Given the description of an element on the screen output the (x, y) to click on. 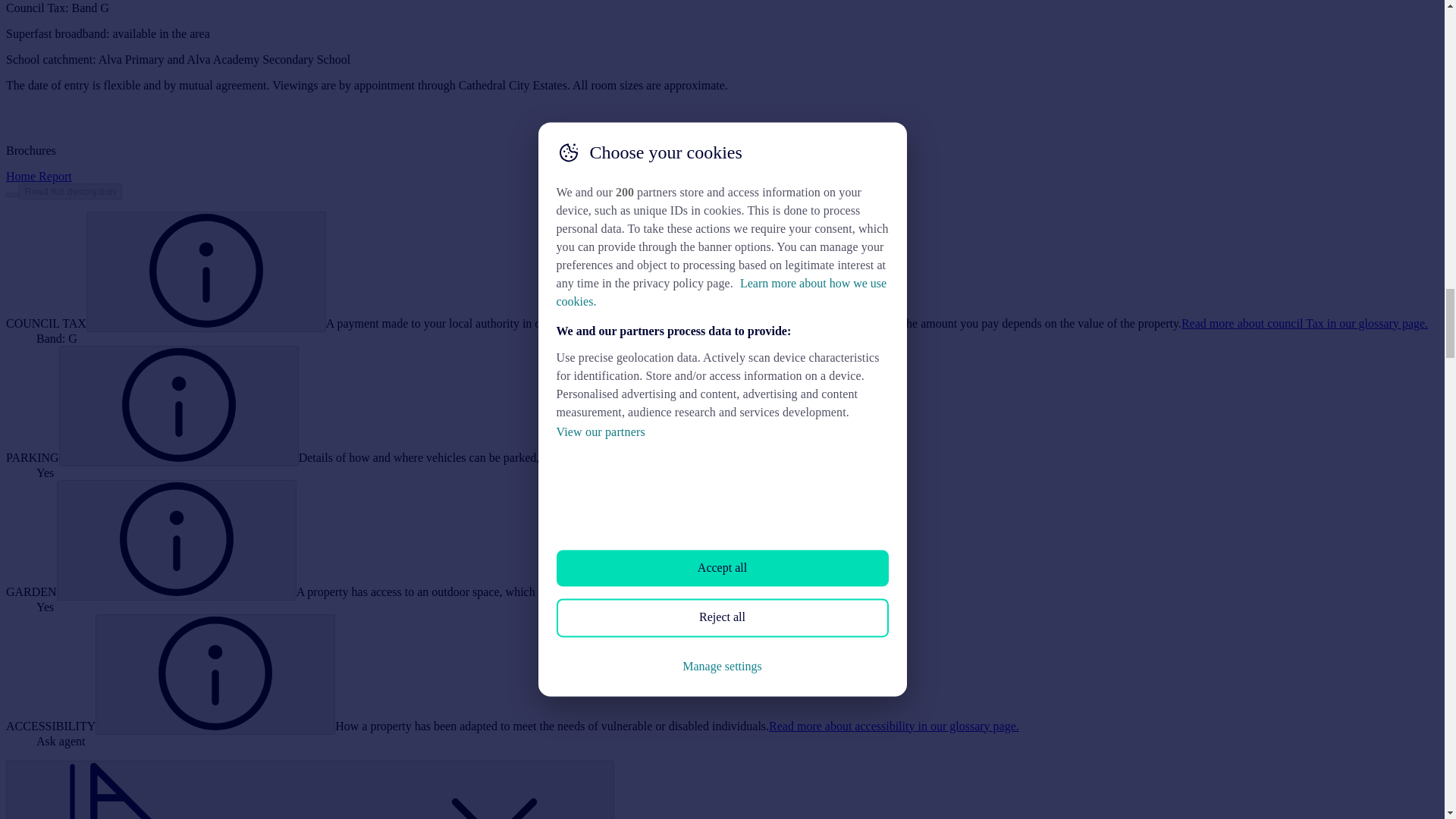
Read more (11, 194)
